Given the description of an element on the screen output the (x, y) to click on. 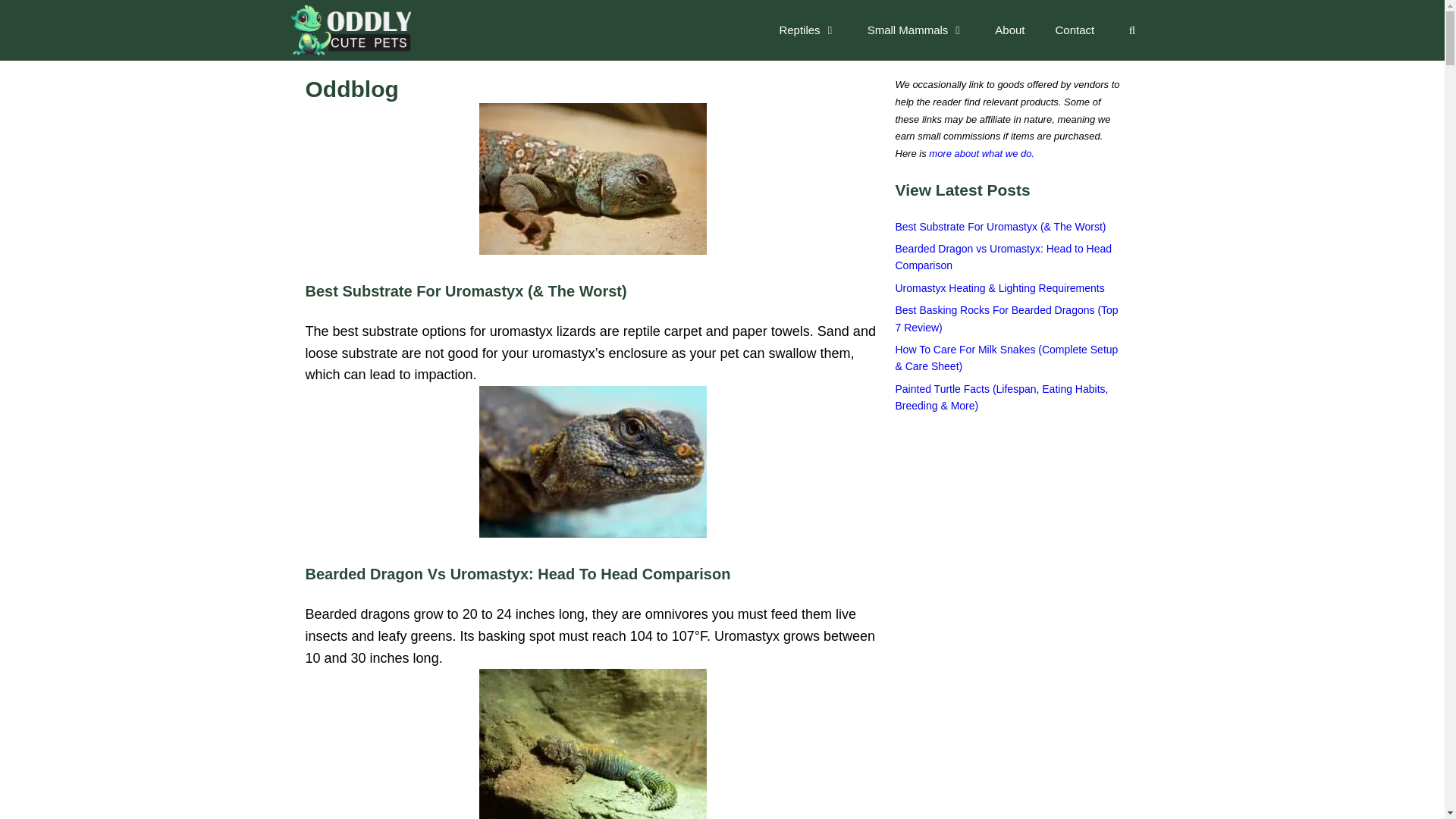
About (1009, 30)
Small Mammals (915, 30)
Reptiles (806, 30)
